Given the description of an element on the screen output the (x, y) to click on. 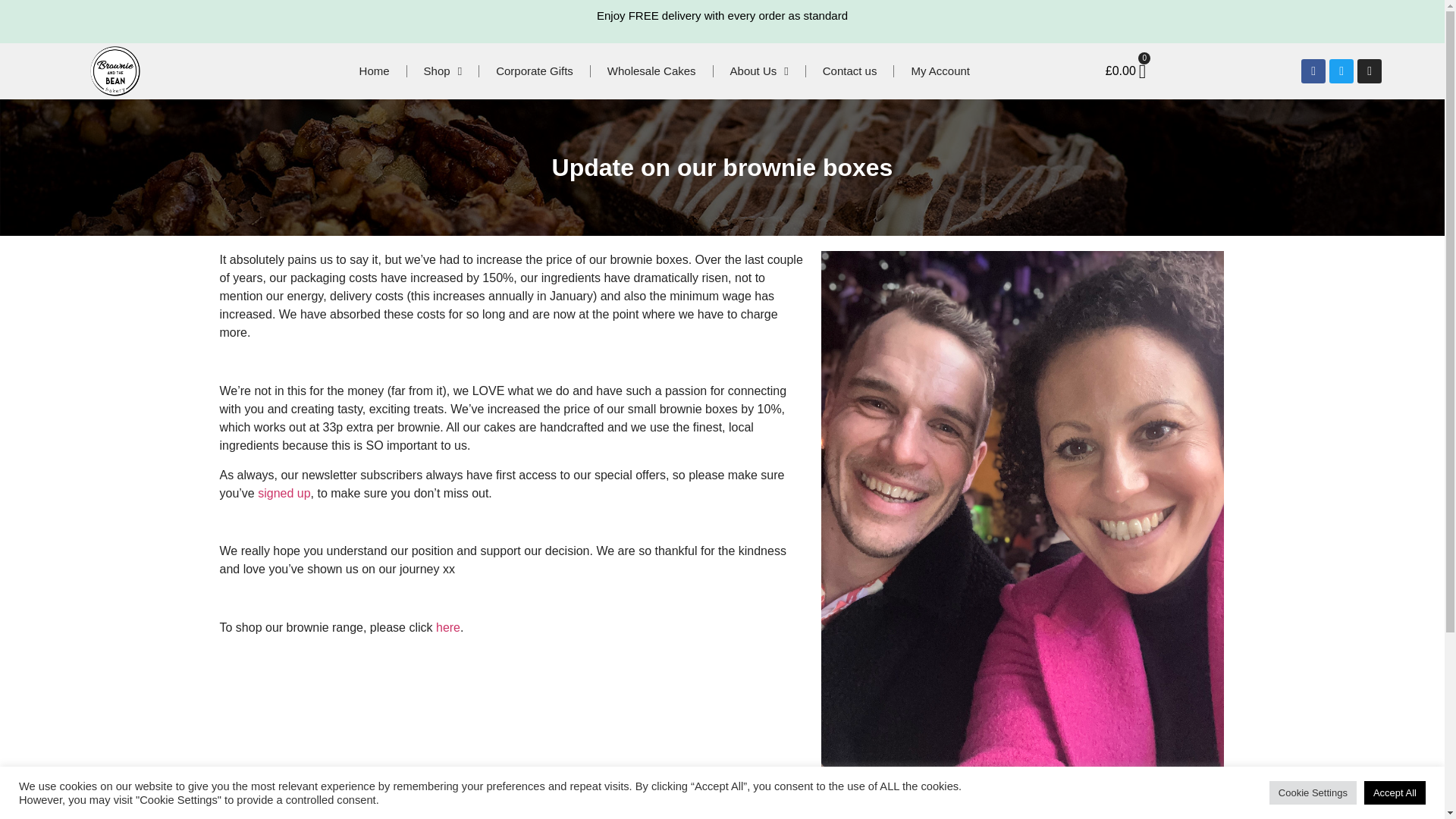
here (446, 626)
Corporate Gifts (534, 71)
Wholesale Cakes (652, 71)
About Us (759, 71)
Contact us (849, 71)
signed up (283, 492)
My Account (940, 71)
Home (374, 71)
Shop (443, 71)
